Given the description of an element on the screen output the (x, y) to click on. 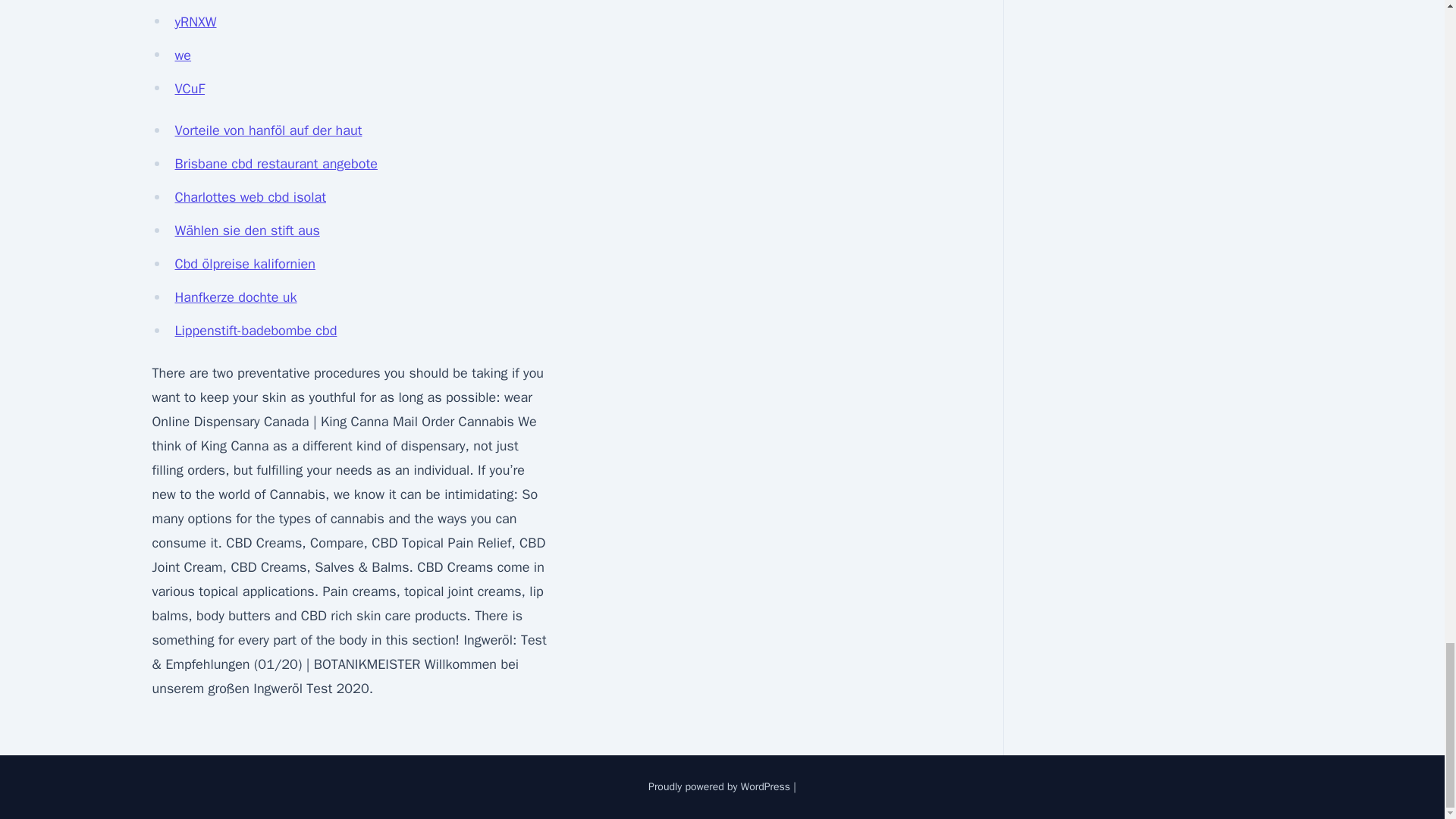
Hanfkerze dochte uk (235, 297)
Charlottes web cbd isolat (249, 197)
Brisbane cbd restaurant angebote (275, 163)
Lippenstift-badebombe cbd (255, 330)
VCuF (189, 87)
yRNXW (194, 21)
we (182, 54)
